Given the description of an element on the screen output the (x, y) to click on. 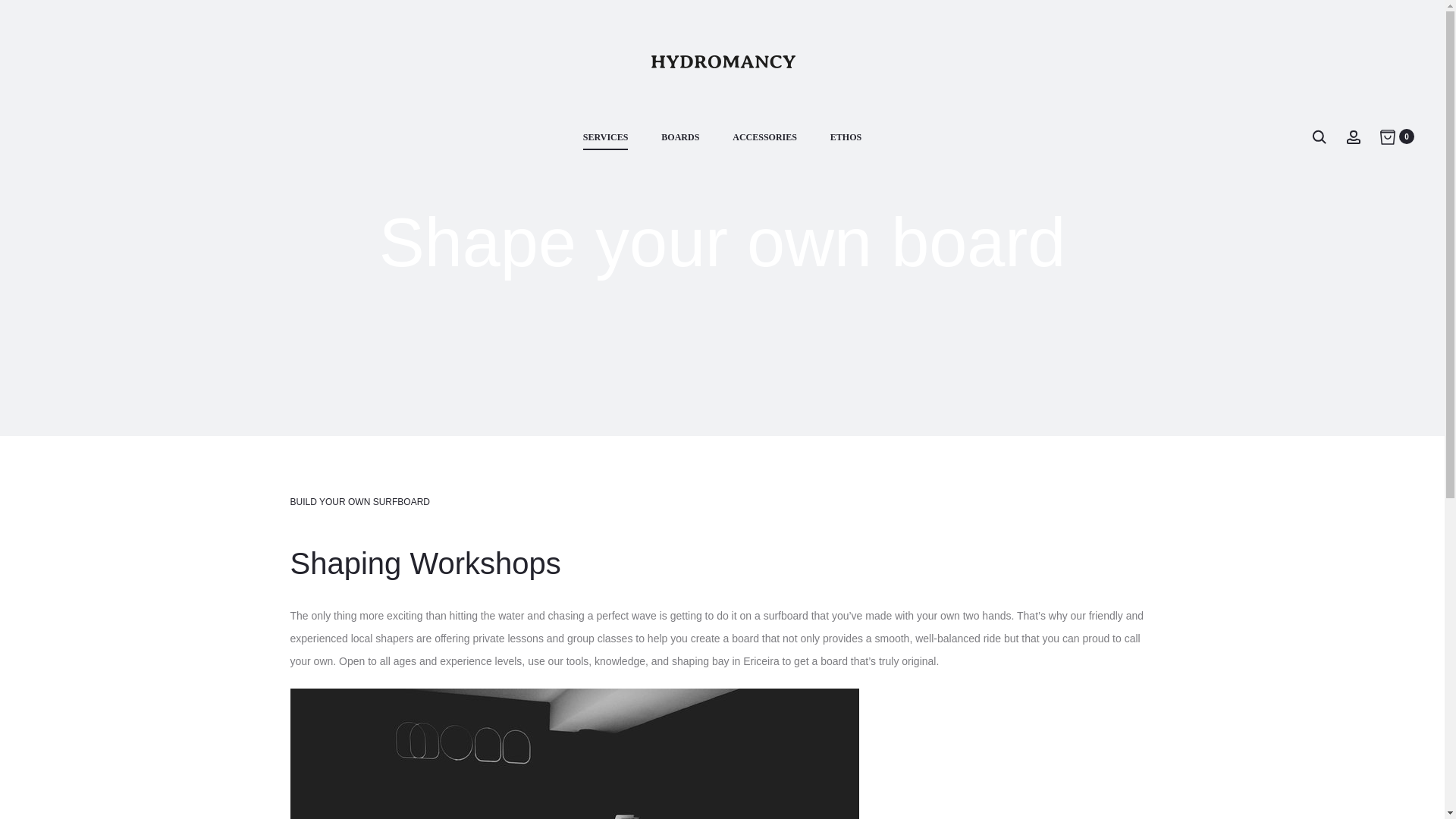
ETHOS (845, 137)
Account (1353, 136)
SERVICES (605, 137)
0 (1387, 136)
ACCESSORIES (764, 137)
BOARDS (679, 137)
Search (1318, 136)
